Given the description of an element on the screen output the (x, y) to click on. 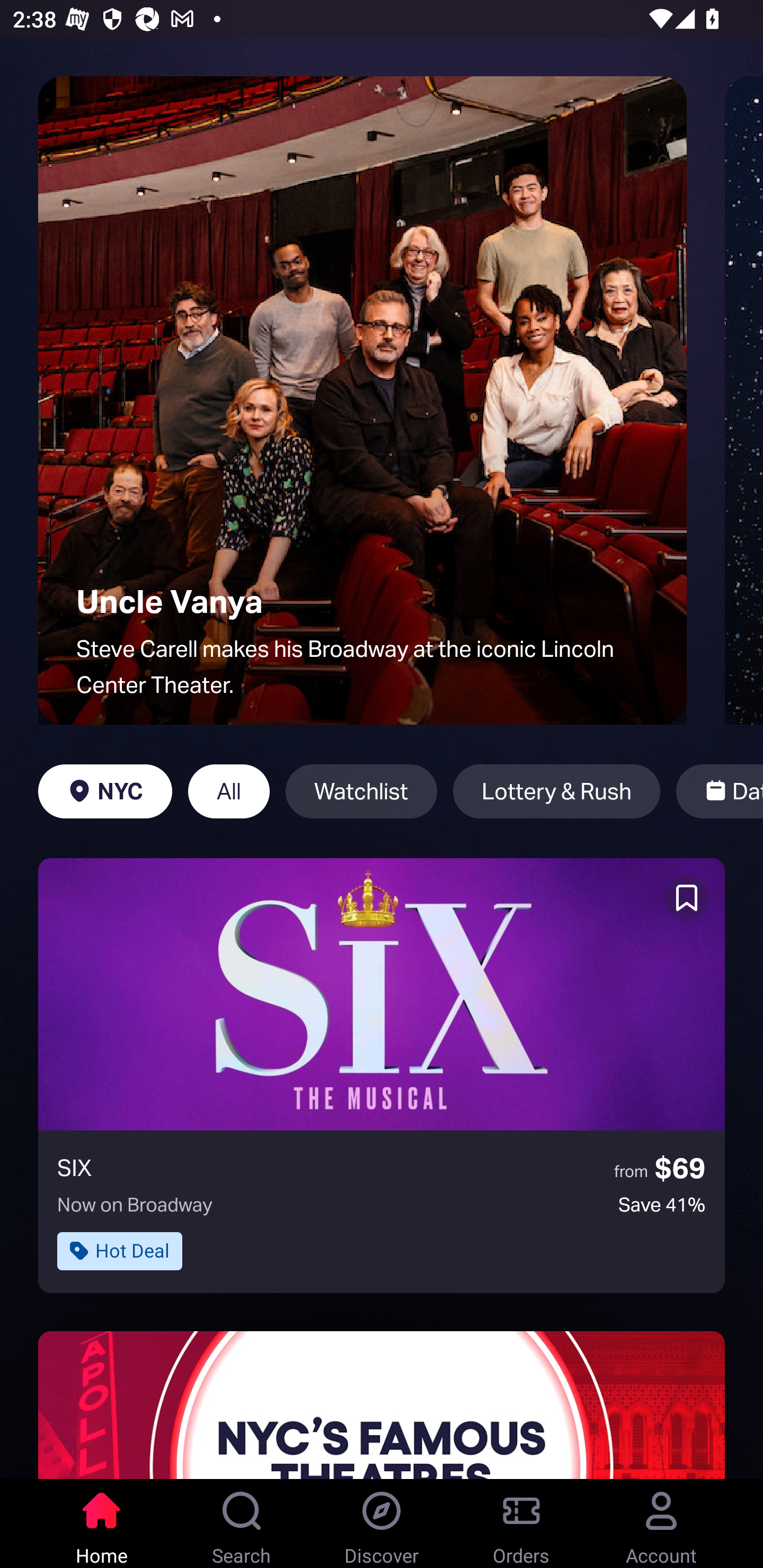
NYC (105, 791)
All (228, 791)
Watchlist (361, 791)
Lottery & Rush (556, 791)
Date (719, 791)
SIX from $69 Now on Broadway Save 41% Hot Deal (381, 1075)
Search (241, 1523)
Discover (381, 1523)
Orders (521, 1523)
Account (660, 1523)
